Given the description of an element on the screen output the (x, y) to click on. 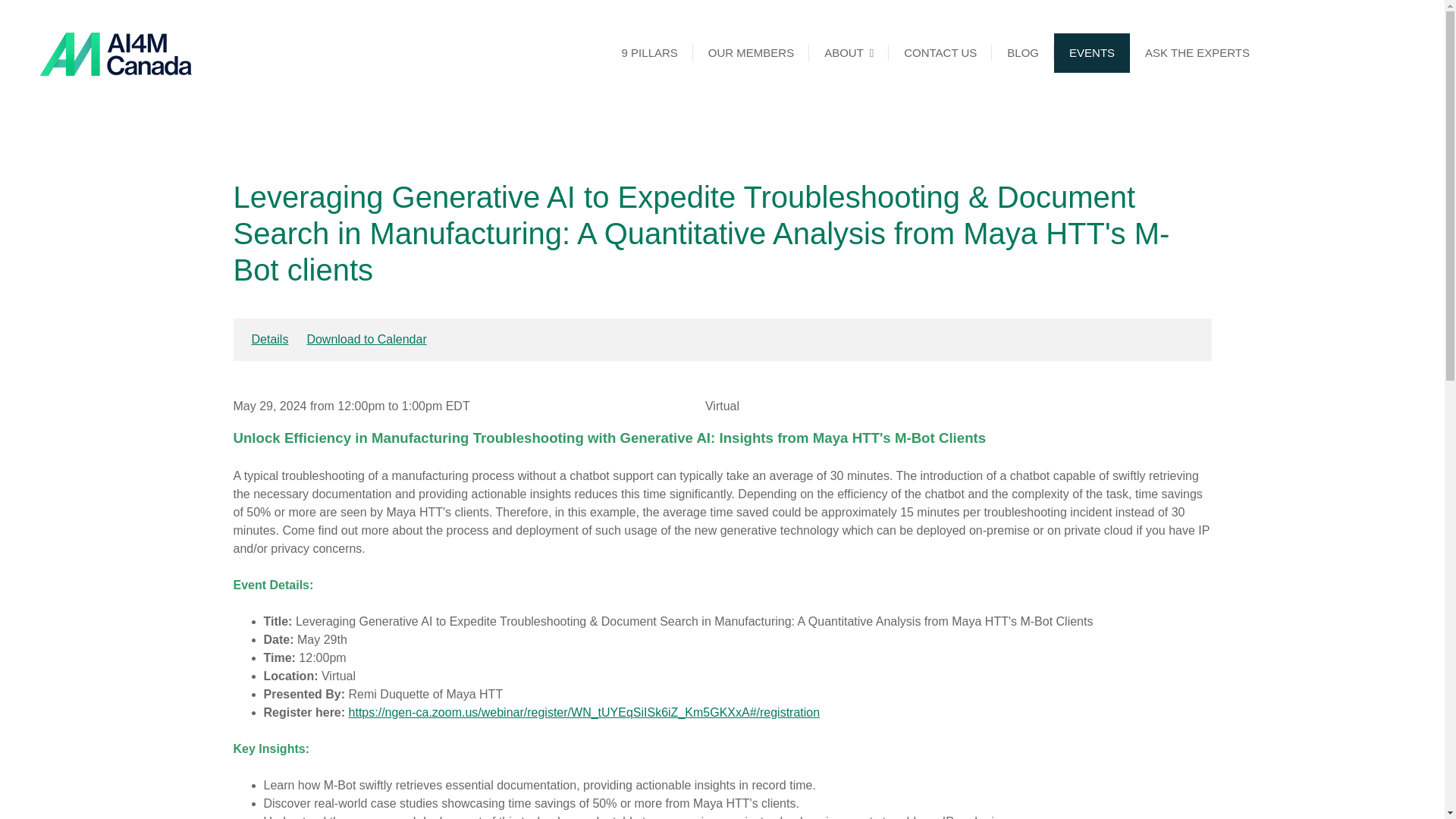
Details (269, 338)
EVENTS (1091, 52)
OUR MEMBERS (751, 52)
ASK THE EXPERTS (1197, 52)
9 PILLARS (650, 52)
CONTACT US (939, 52)
ABOUT (848, 52)
Download to Calendar (365, 338)
BLOG (1022, 52)
